Given the description of an element on the screen output the (x, y) to click on. 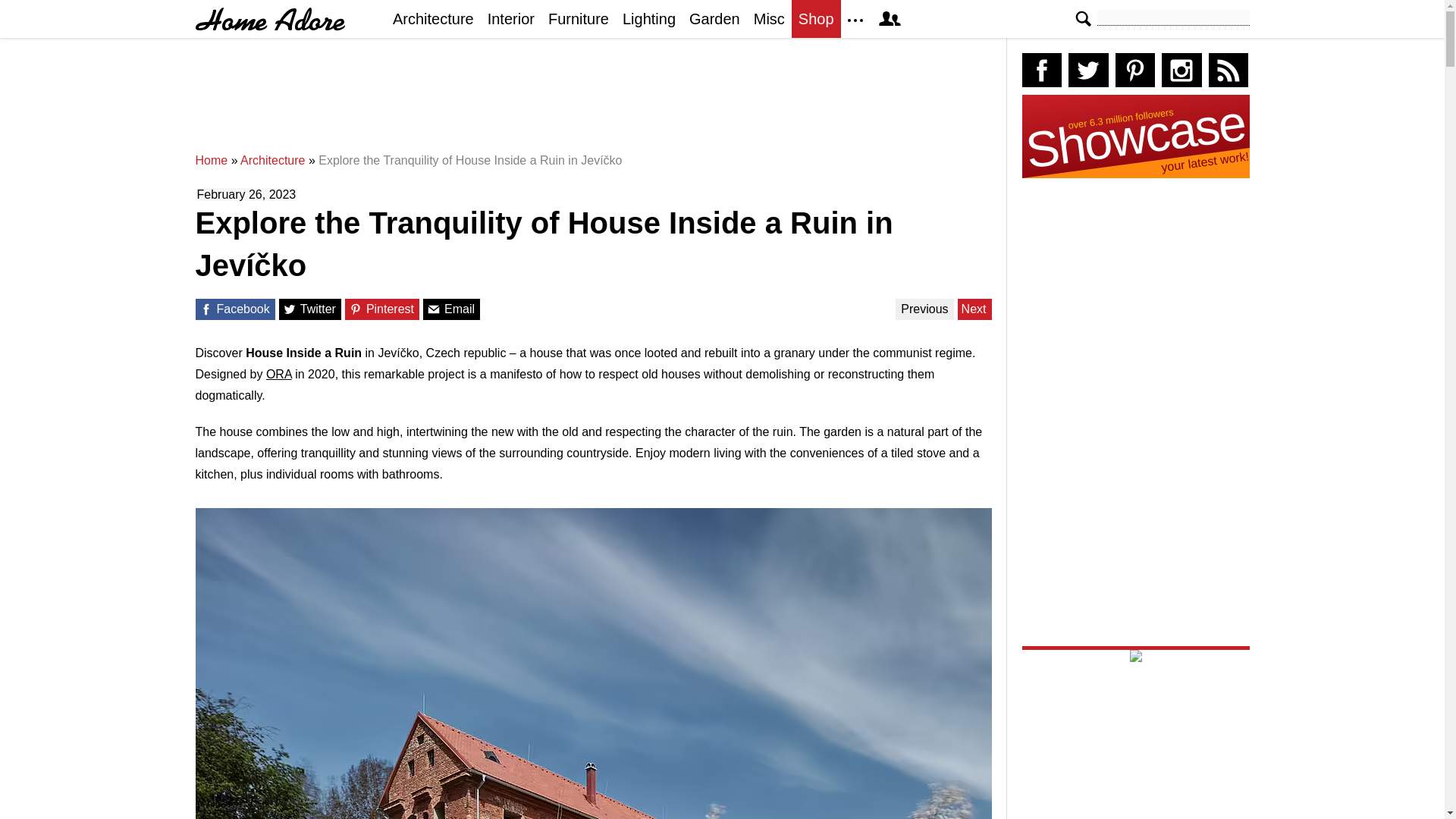
Lighting (648, 18)
Member Area (889, 17)
Shop (816, 18)
Architecture (272, 160)
Home (211, 160)
Share on Pinterest (355, 309)
HomeAdore (270, 19)
Home (211, 160)
Share on Facebook (205, 309)
Architecture (432, 18)
